Given the description of an element on the screen output the (x, y) to click on. 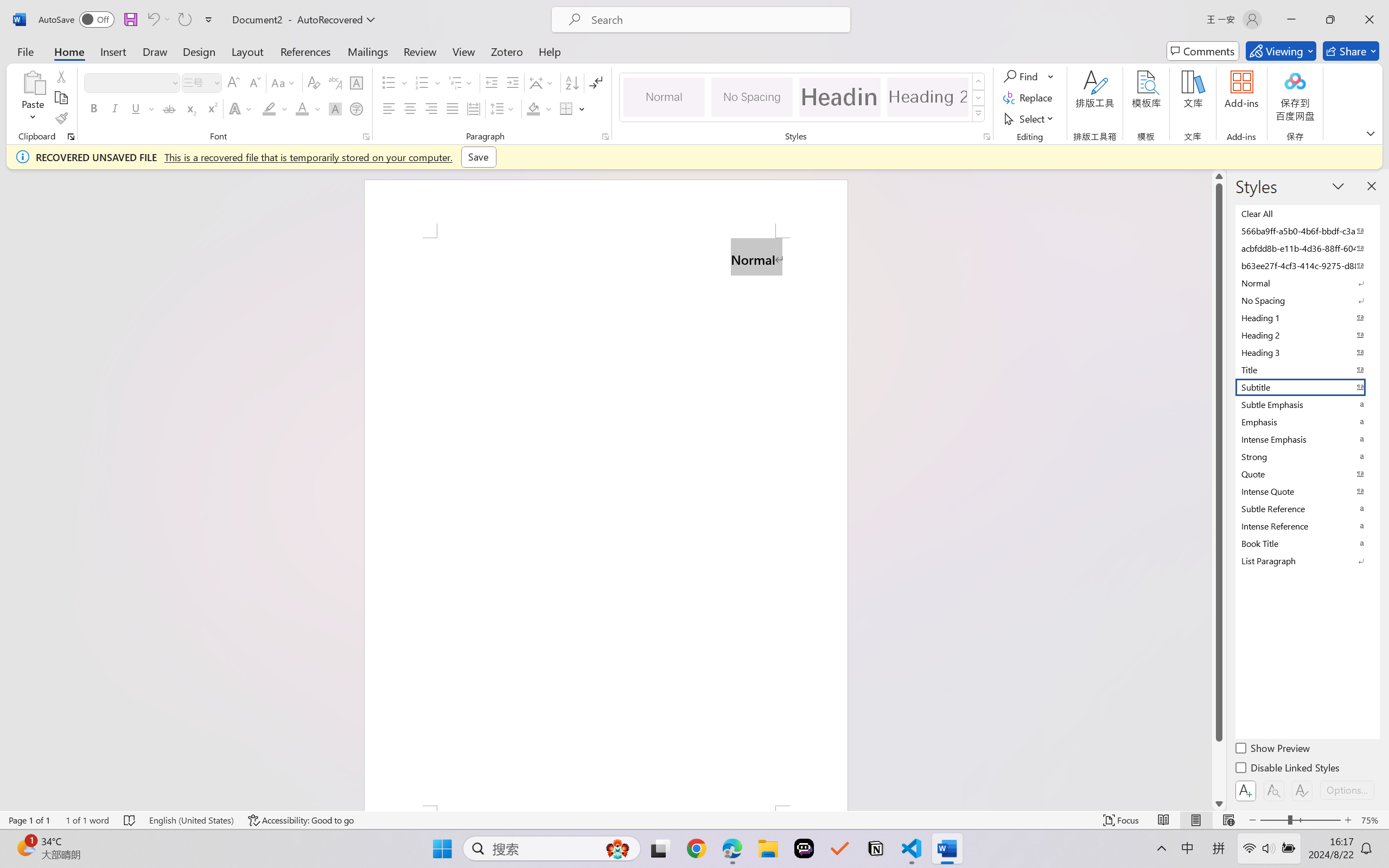
AutomationID: QuickStylesGallery (802, 97)
Class: MsoCommandBar (694, 819)
Zoom 75% (1372, 819)
Subtle Reference (1306, 508)
Subtitle (1306, 386)
Cut (60, 75)
Align Left (388, 108)
Styles (978, 113)
